Given the description of an element on the screen output the (x, y) to click on. 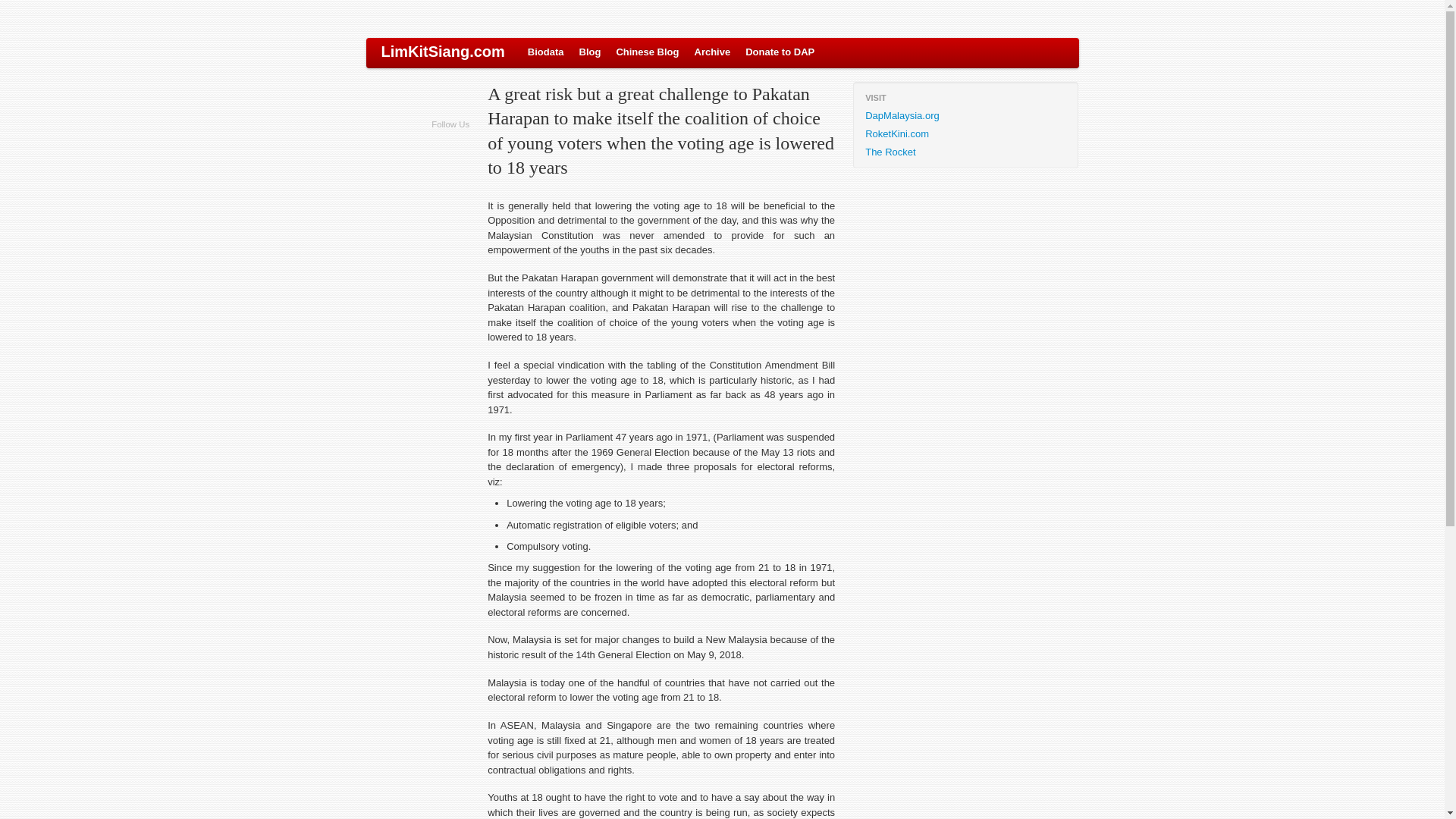
Biodata (545, 52)
RoketKini.com (965, 134)
LimKitSiang.com (442, 52)
Chinese Blog (646, 52)
Donate to DAP (780, 52)
DapMalaysia.org (965, 116)
Archive (712, 52)
The Rocket (965, 152)
Blog (590, 52)
